Given the description of an element on the screen output the (x, y) to click on. 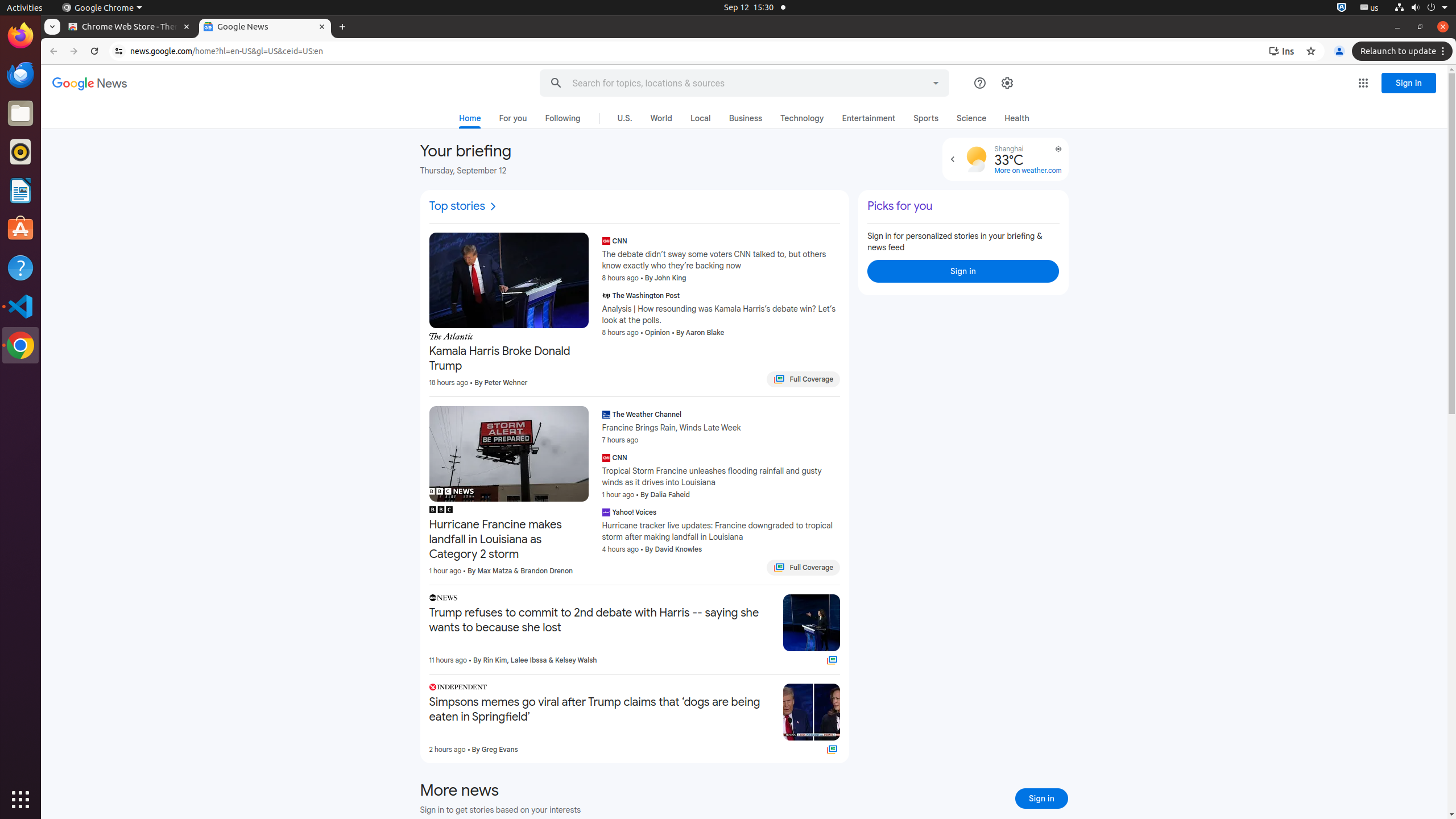
Visual Studio Code Element type: push-button (20, 306)
U.S. Element type: menu-item (624, 118)
Files Element type: push-button (20, 113)
Firefox Web Browser Element type: push-button (20, 35)
Google Chrome Element type: push-button (20, 344)
